Given the description of an element on the screen output the (x, y) to click on. 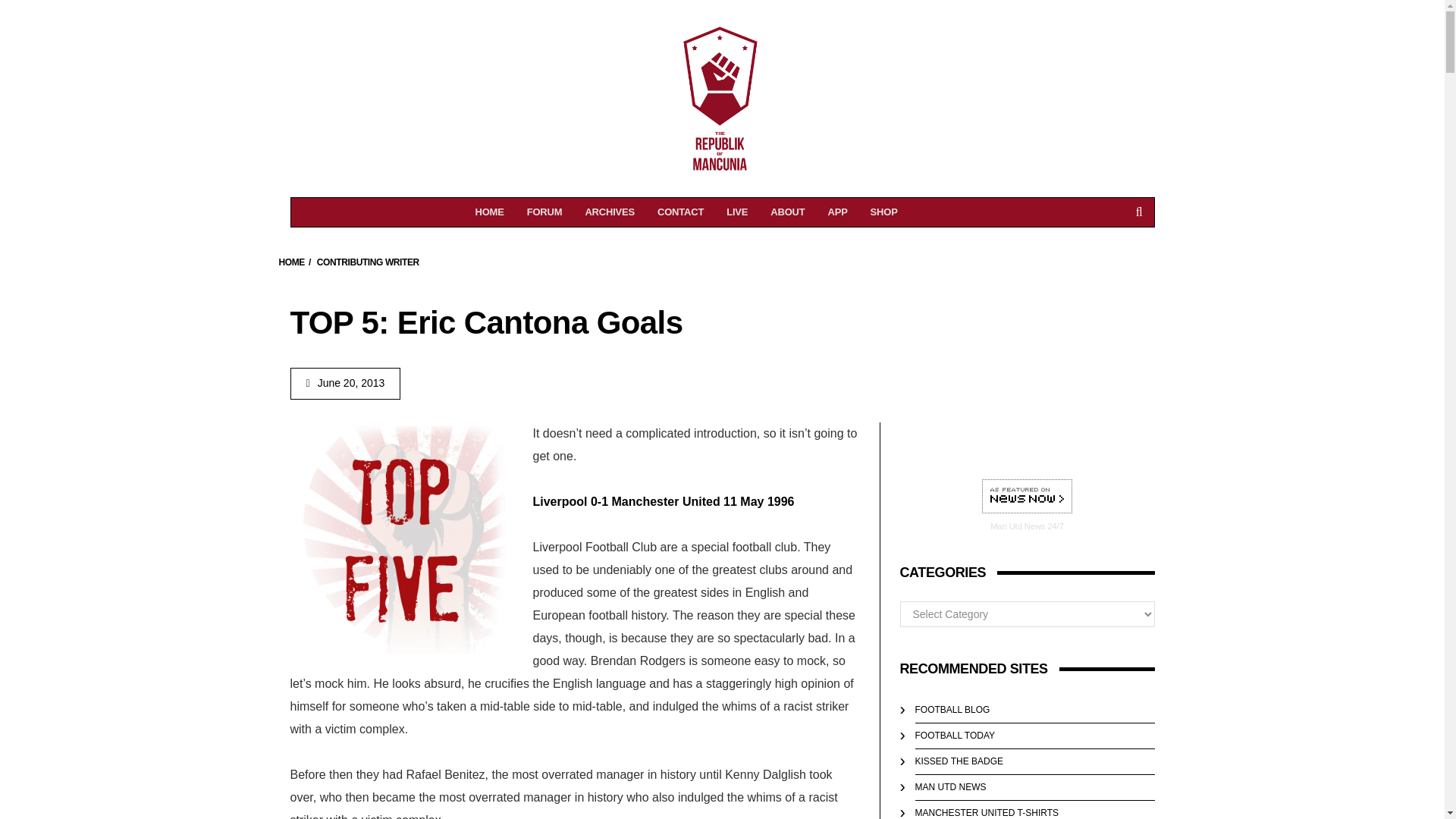
SHOP (883, 212)
FORUM (544, 212)
APP (837, 212)
LIVE (736, 212)
ABOUT (786, 212)
ARCHIVES (1026, 497)
HOME (609, 212)
HOME (291, 262)
Top Five1 (489, 212)
